Given the description of an element on the screen output the (x, y) to click on. 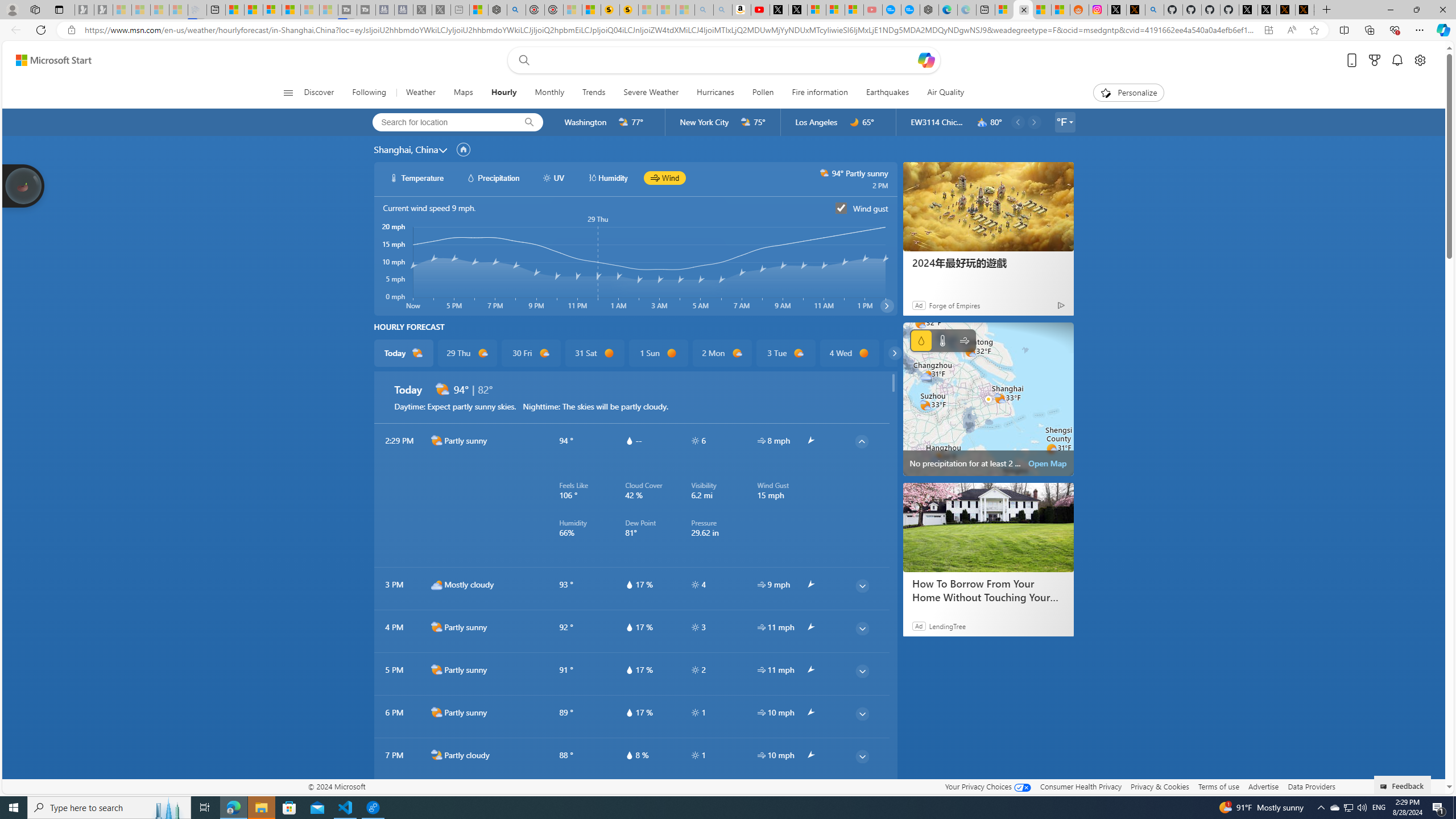
Enter your search term (726, 59)
LendingTree (946, 625)
Profile / X (1248, 9)
Trends (593, 92)
3 Tue d1000 (785, 352)
locationBar/triangle (1070, 122)
hourlyChart/uvWhite (546, 177)
Air Quality (945, 92)
Join us in planting real trees to help our planet! (23, 184)
Data Providers (1311, 785)
d2000 (436, 712)
